Given the description of an element on the screen output the (x, y) to click on. 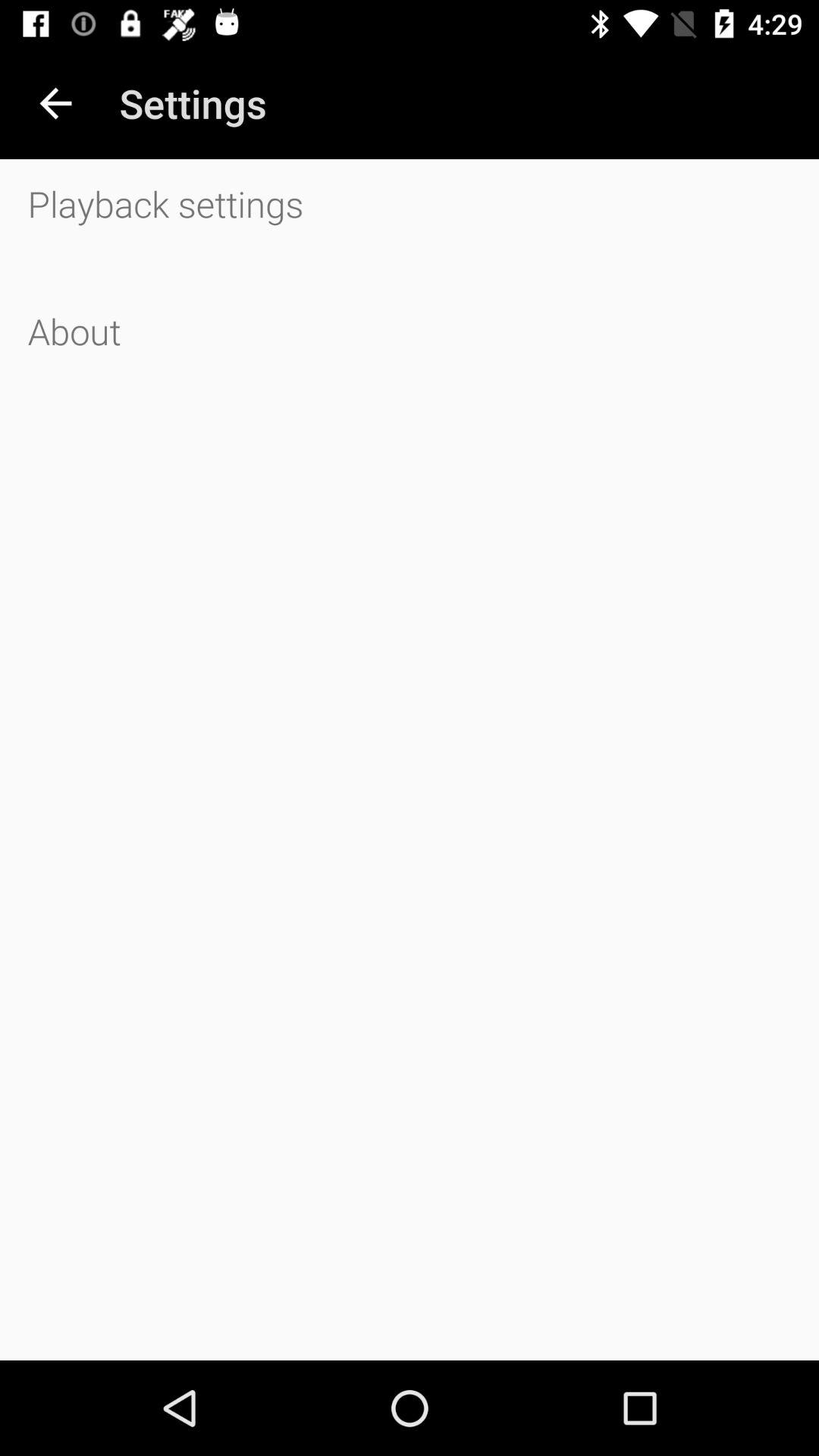
go back (55, 103)
